Given the description of an element on the screen output the (x, y) to click on. 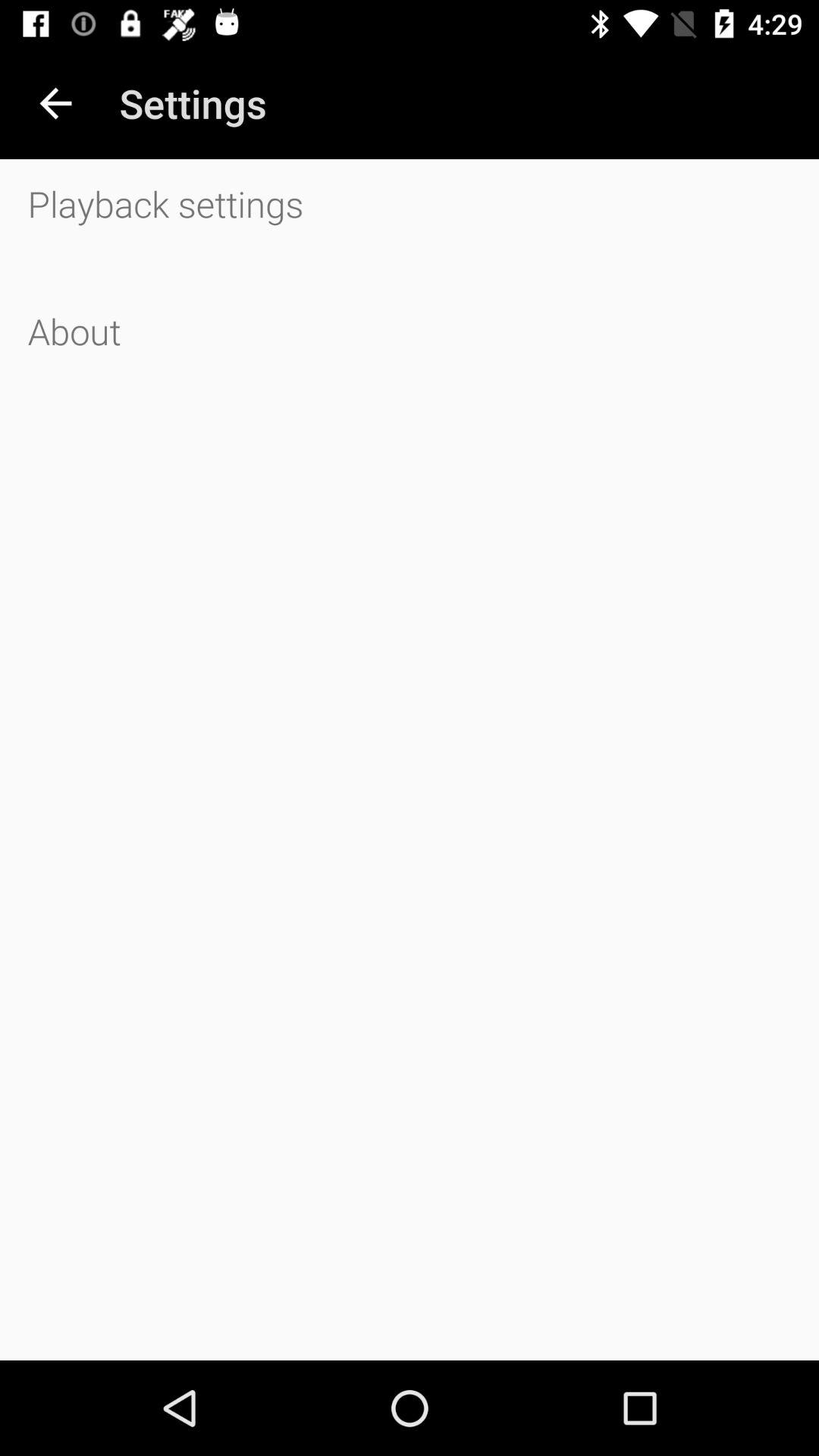
go back (55, 103)
